Given the description of an element on the screen output the (x, y) to click on. 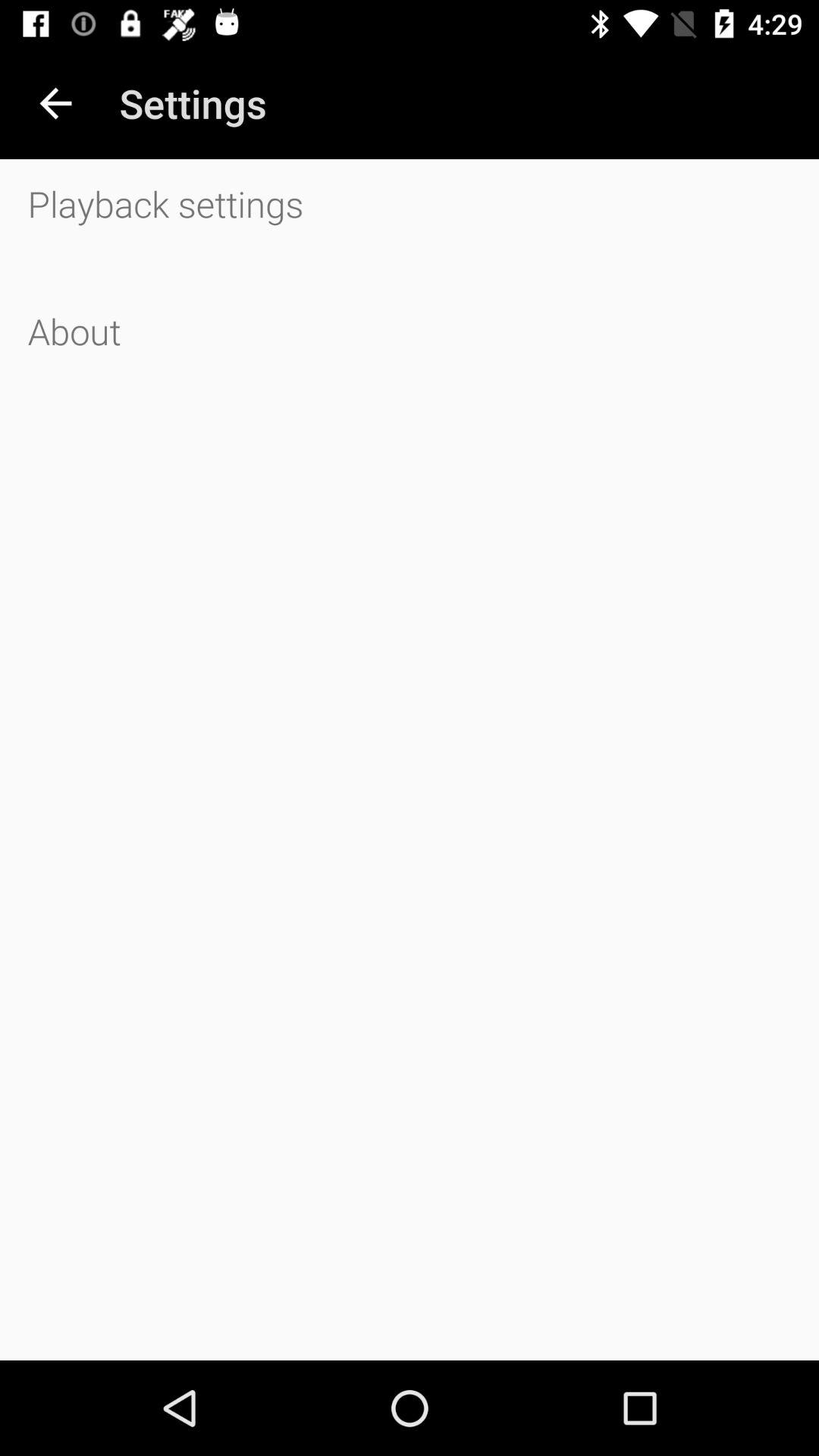
go back (55, 103)
